Given the description of an element on the screen output the (x, y) to click on. 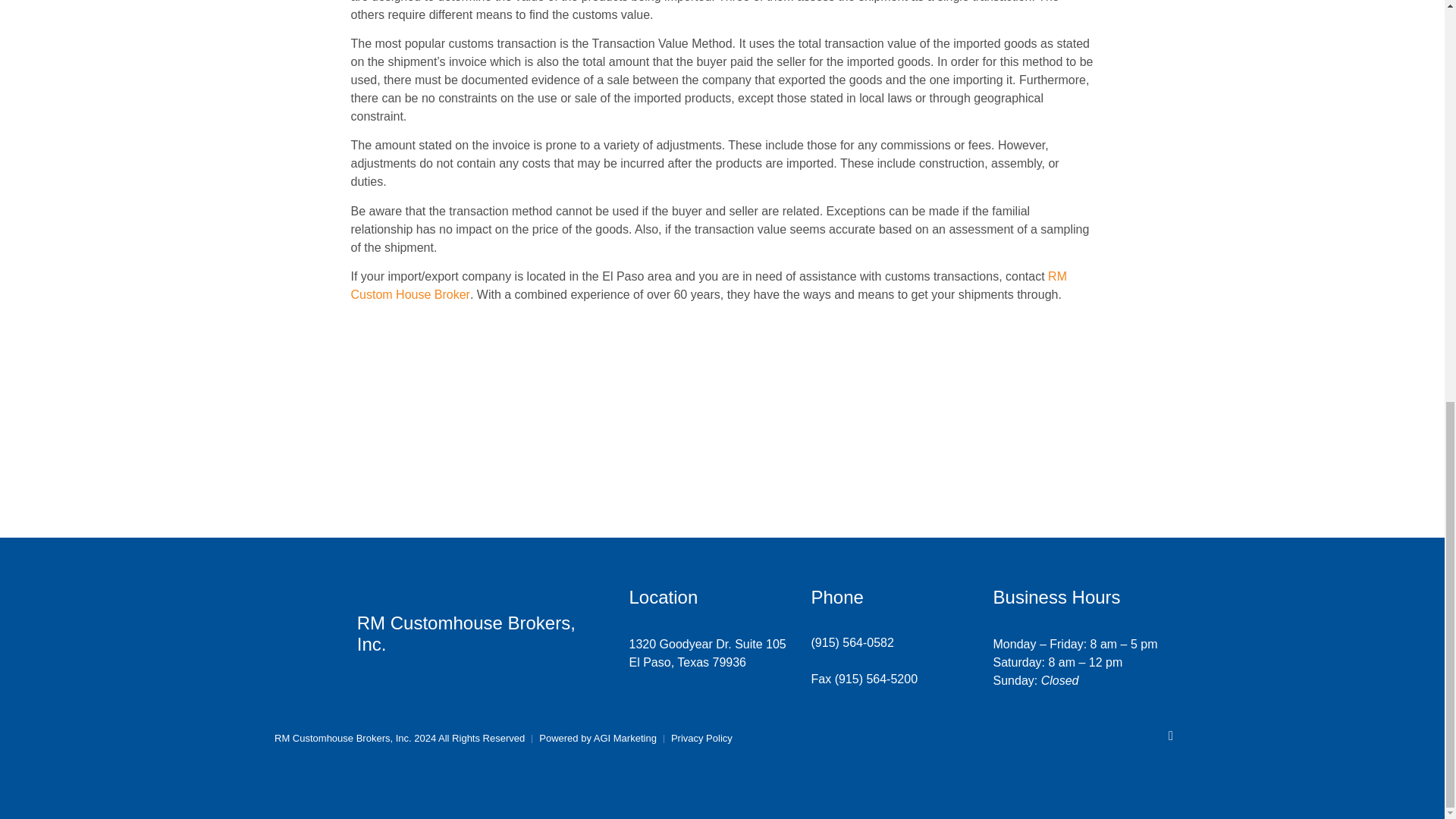
RM Custom House Broker (707, 653)
Privacy Policy (707, 285)
Powered by AGI Marketing (701, 738)
